Given the description of an element on the screen output the (x, y) to click on. 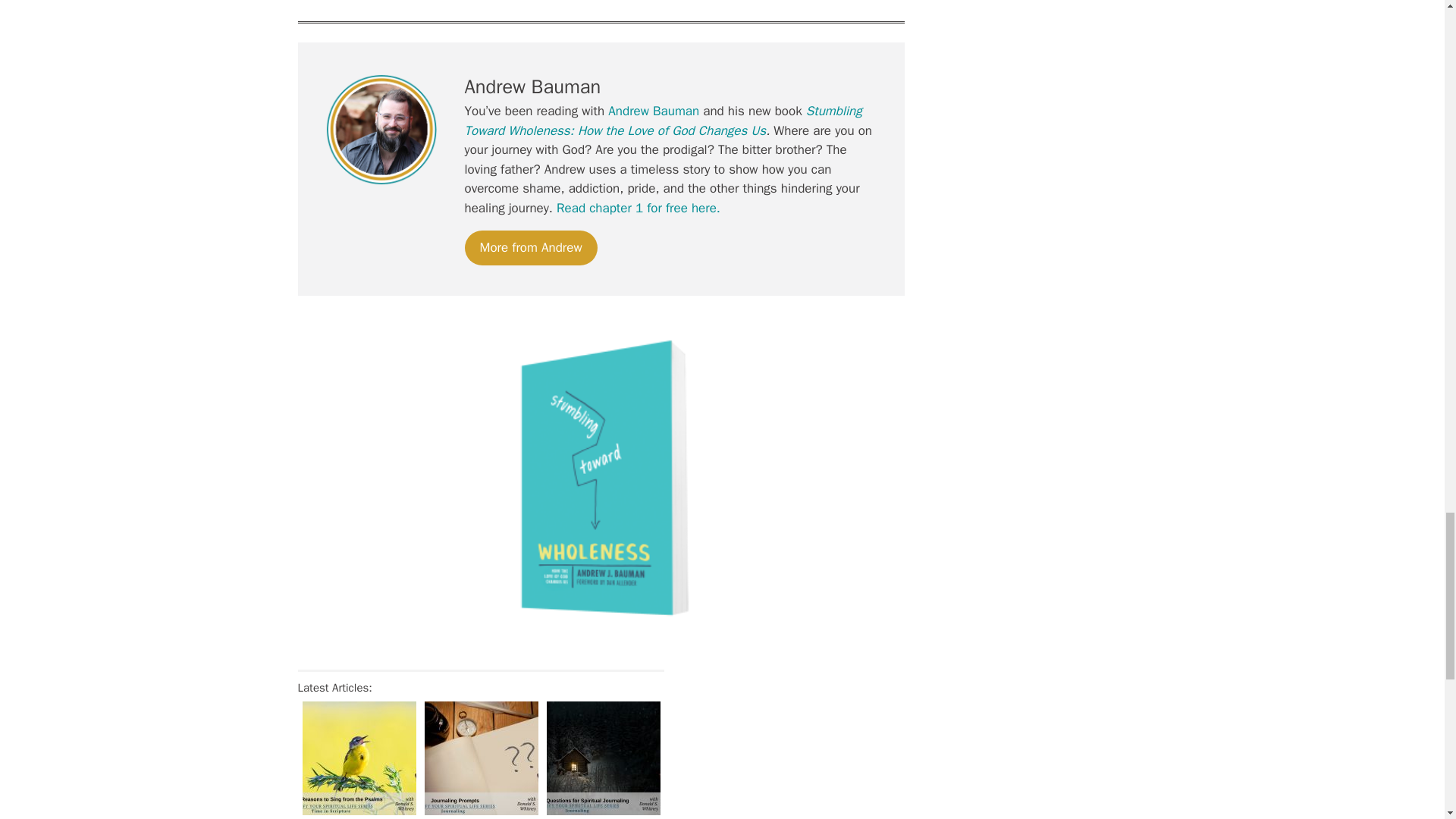
Stumbling Toward Wholeness: How the Love of God Changes Us (662, 120)
10 Probing Questions for Spiritual Journaling (602, 757)
Andrew Bauman (653, 110)
10 Good Reasons to Sing from the Psalms (358, 757)
Journaling Prompts (481, 757)
More from Andrew (530, 247)
Read chapter 1 for free here. (638, 207)
